Given the description of an element on the screen output the (x, y) to click on. 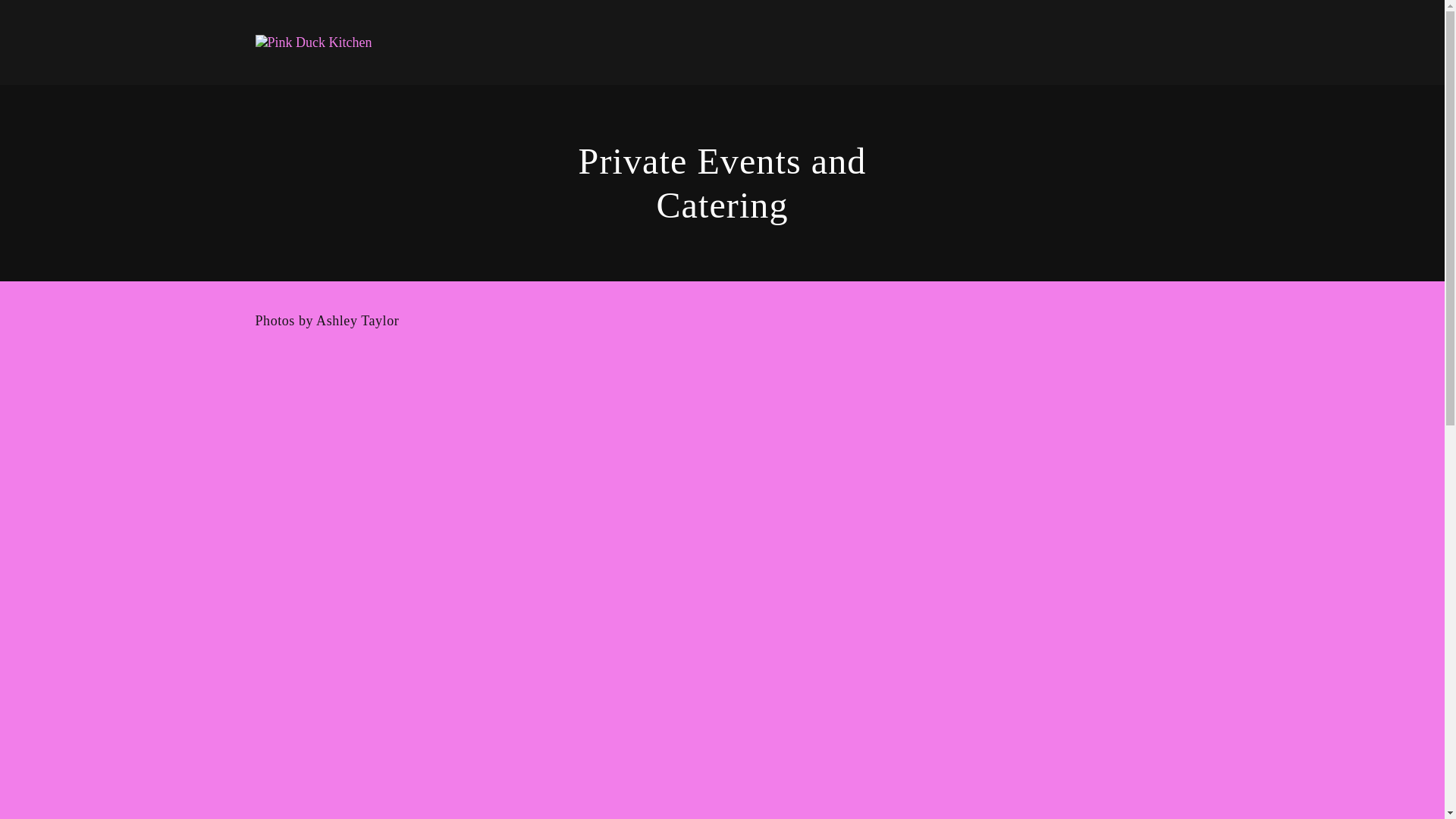
Pink Duck Kitchen (312, 41)
